Given the description of an element on the screen output the (x, y) to click on. 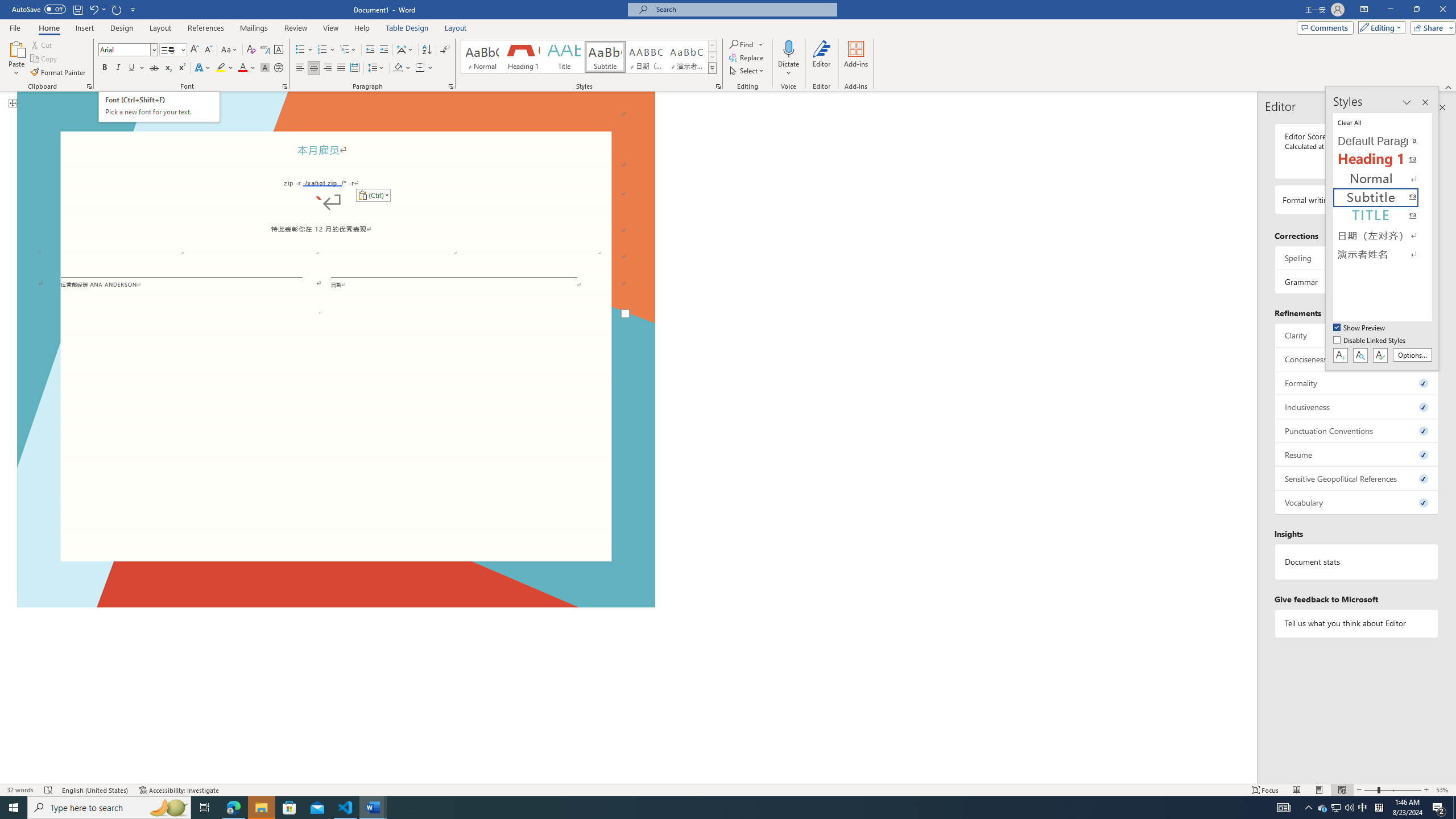
Zoom 53% (1443, 790)
Action: Paste alternatives (373, 195)
Vocabulary, 0 issues. Press space or enter to review items. (1356, 502)
Disable Linked Styles (1370, 340)
Undo Paste (92, 9)
